Given the description of an element on the screen output the (x, y) to click on. 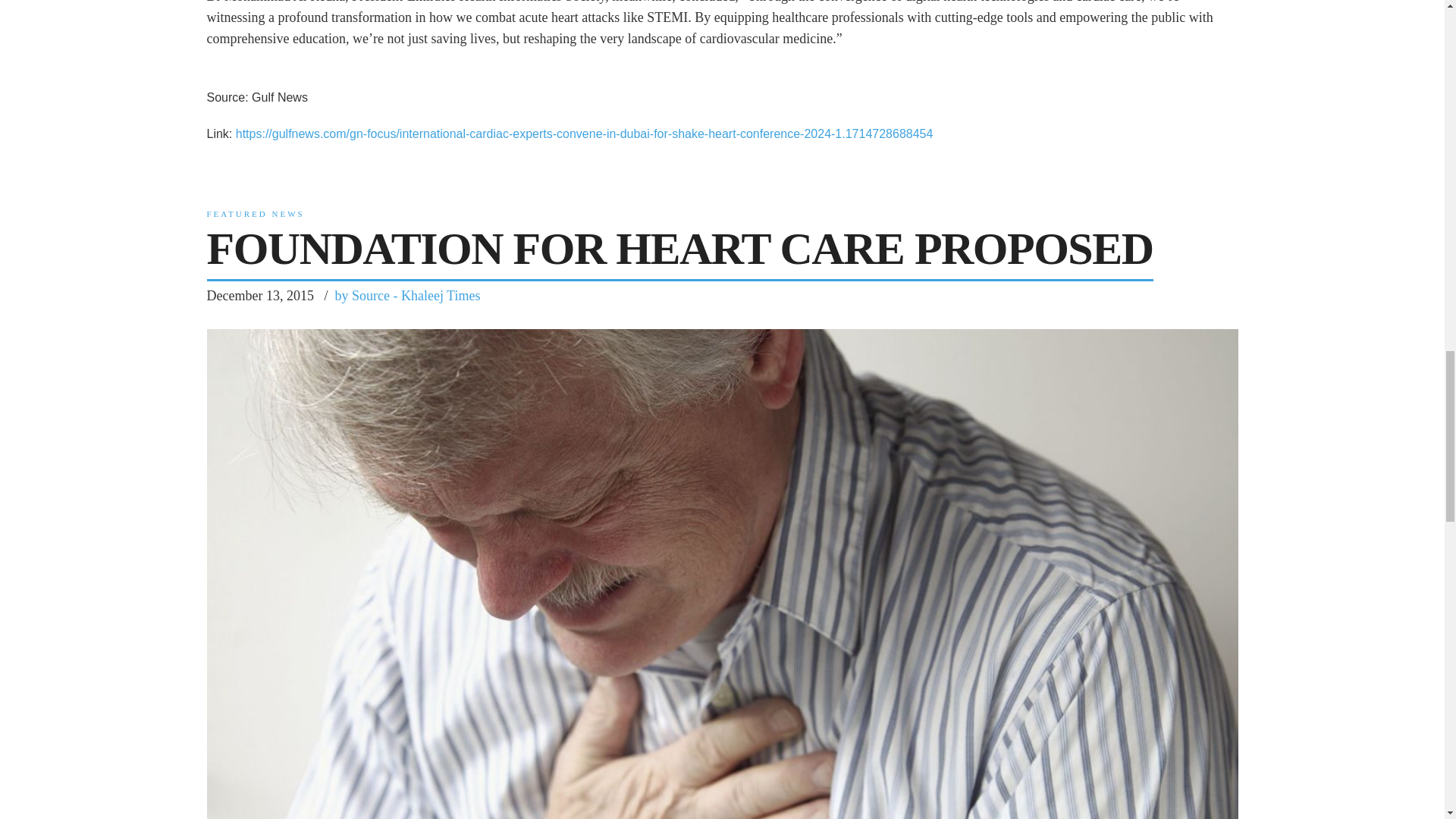
by Source - Khaleej Times (407, 295)
FEATURED NEWS (255, 214)
